Given the description of an element on the screen output the (x, y) to click on. 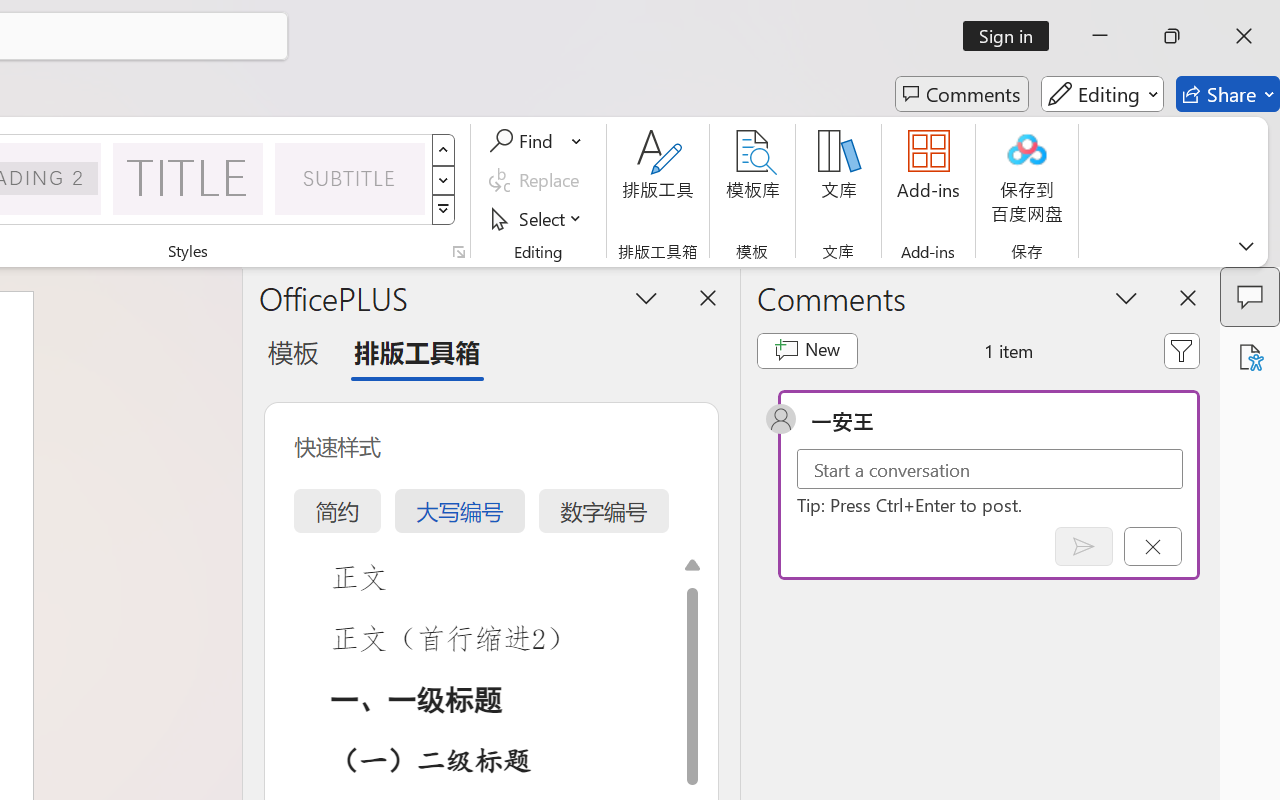
Title (187, 178)
Sign in (1012, 35)
Start a conversation (990, 468)
Filter (1181, 350)
